Given the description of an element on the screen output the (x, y) to click on. 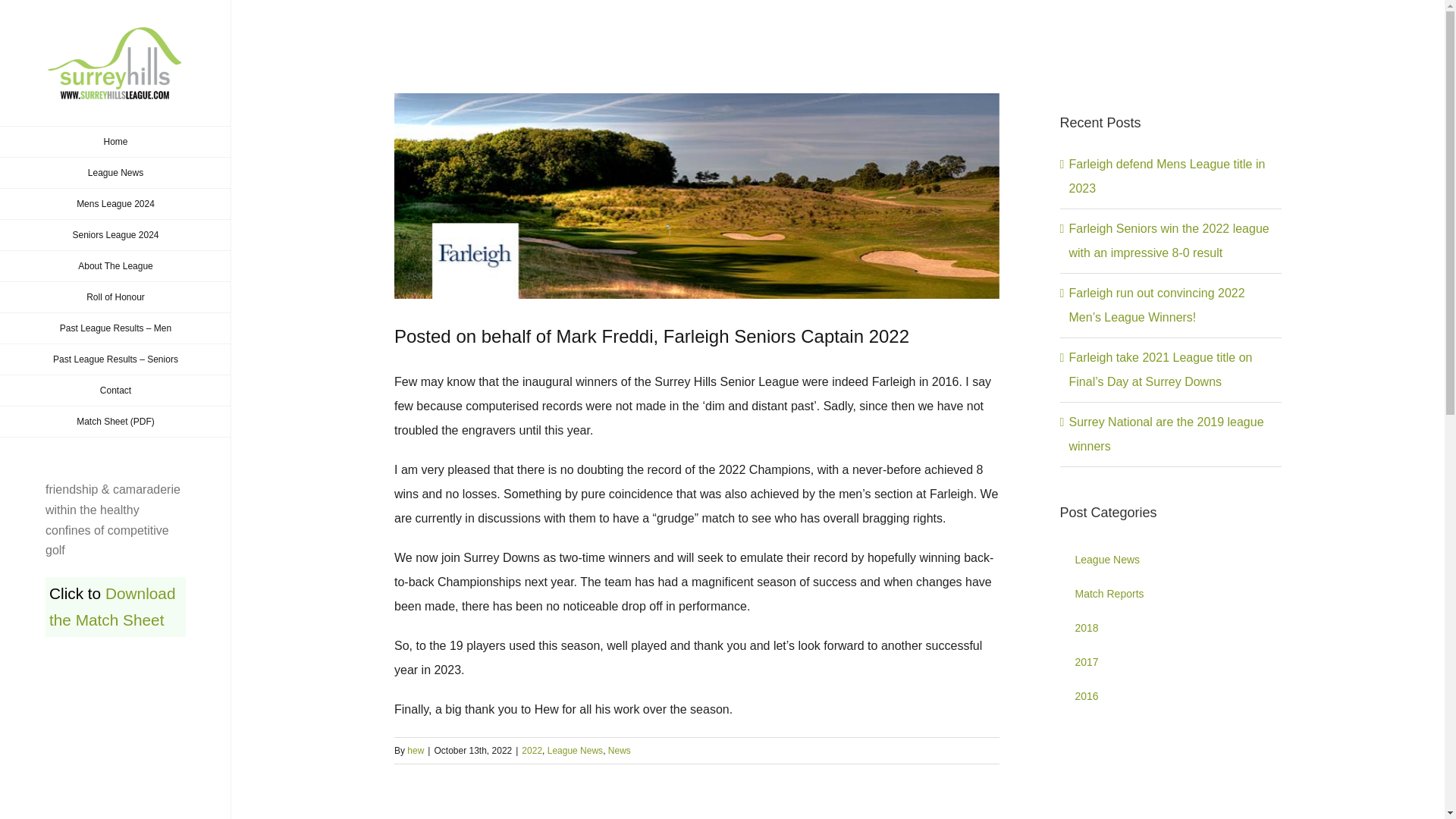
Posts by hew (415, 750)
Seniors League 2024 (115, 235)
Contact (115, 390)
Roll of Honour (115, 296)
League News (115, 173)
Home (115, 142)
Mens League 2024 (115, 204)
About The League (115, 265)
